Given the description of an element on the screen output the (x, y) to click on. 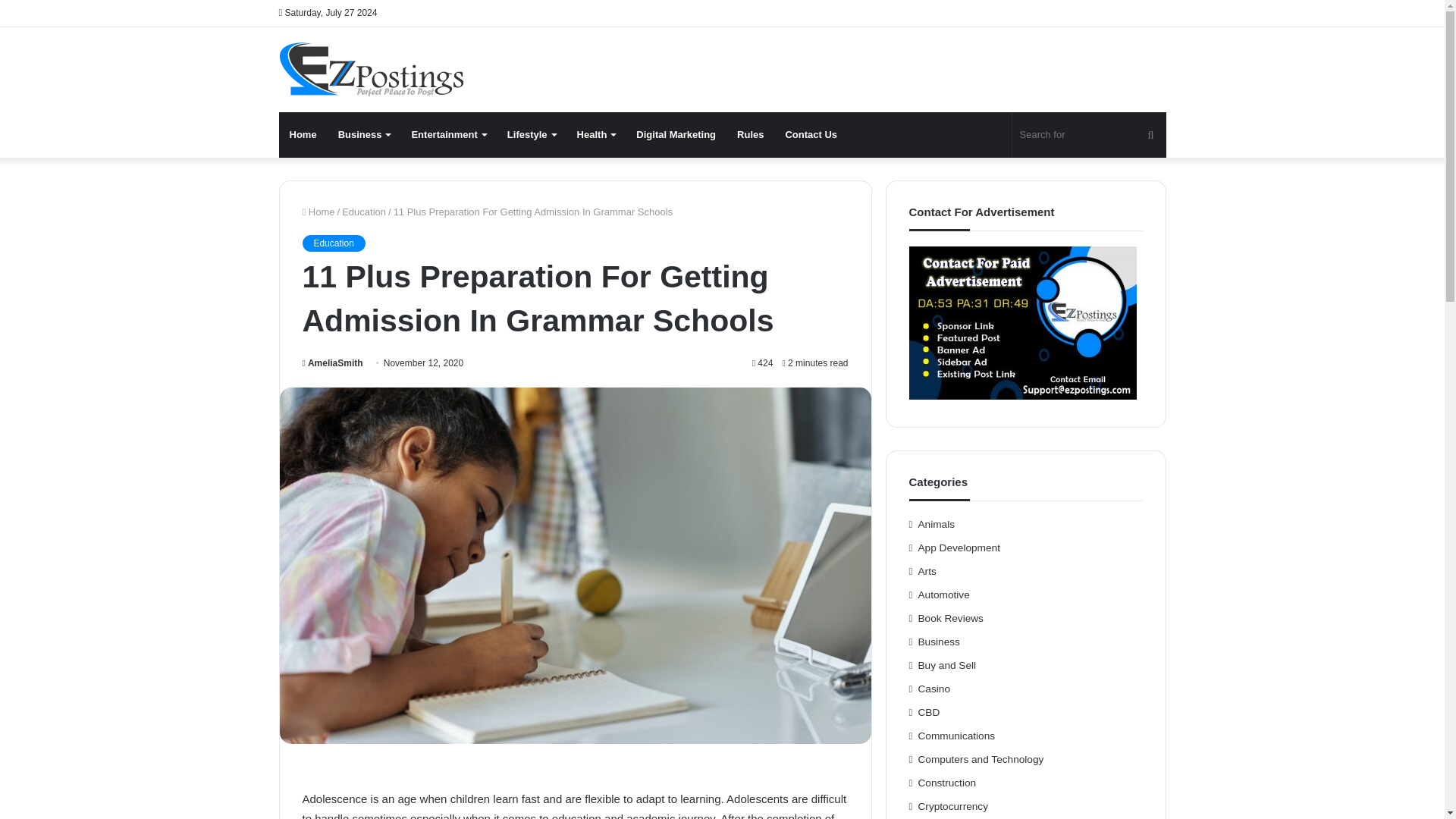
Contact Us (810, 135)
AmeliaSmith (331, 362)
AmeliaSmith (331, 362)
Lifestyle (531, 135)
Home (303, 135)
Education (333, 243)
Home (317, 211)
Rules (750, 135)
Business (364, 135)
Health (596, 135)
Ez Postings (371, 69)
Education (363, 211)
Entertainment (448, 135)
Search for (1088, 135)
Digital Marketing (676, 135)
